Given the description of an element on the screen output the (x, y) to click on. 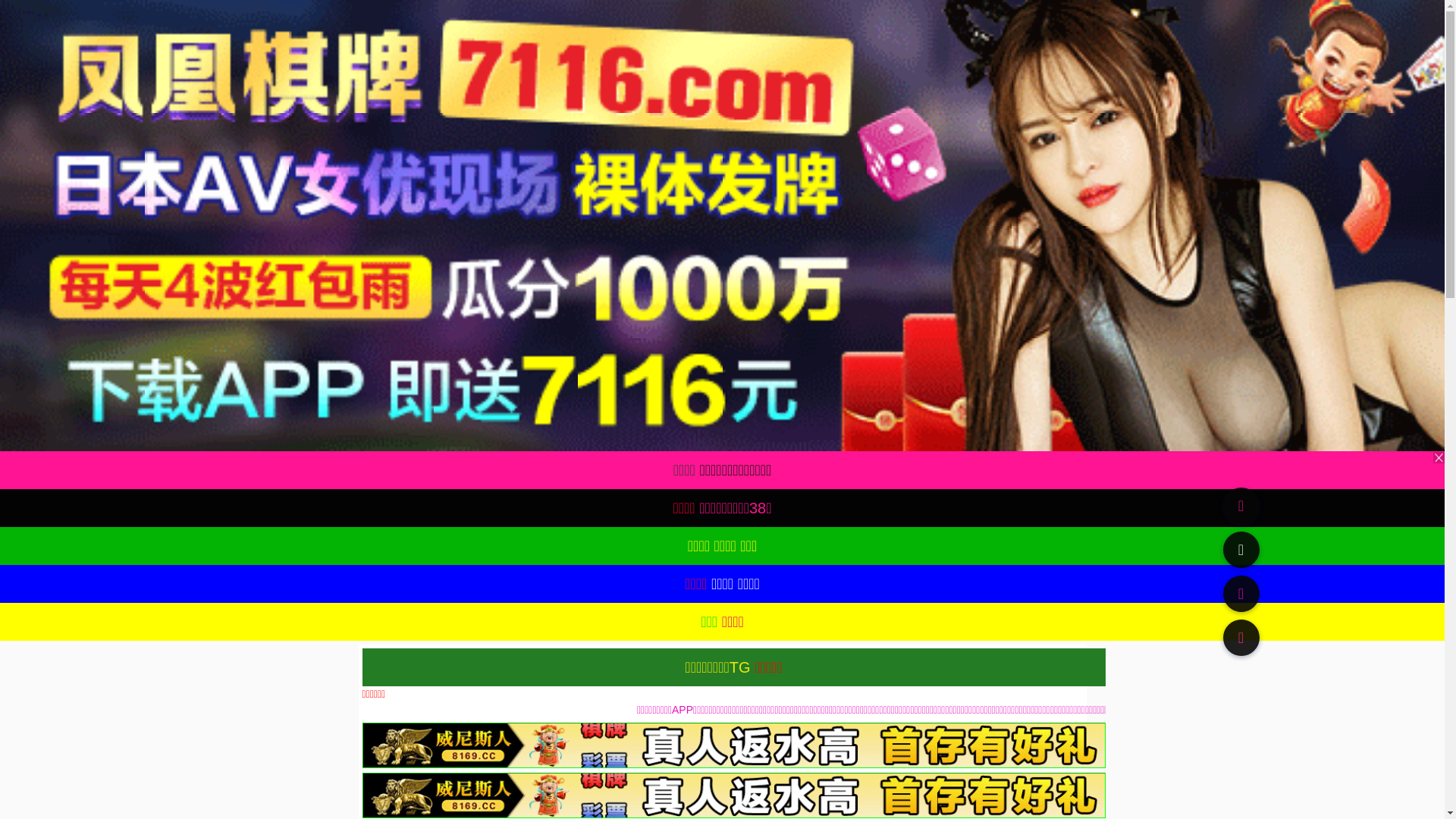
91TV Element type: hover (1240, 593)
